Given the description of an element on the screen output the (x, y) to click on. 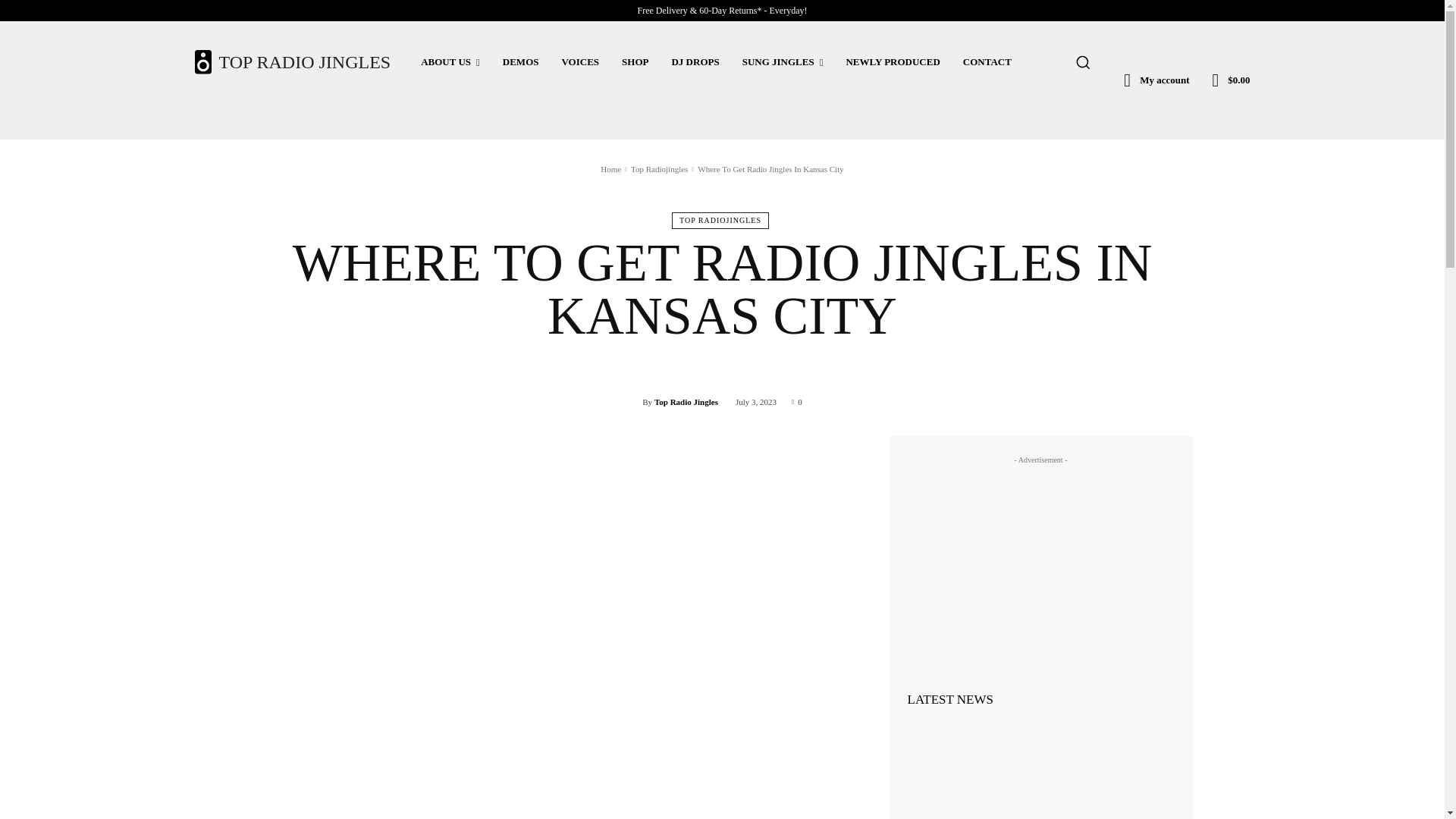
ABOUT US (450, 62)
SUNG JINGLES (783, 62)
NEWLY PRODUCED (892, 62)
TOP RADIO JINGLES (291, 61)
DJ DROPS (695, 62)
View all posts in Top Radiojingles (658, 168)
CONTACT (986, 62)
DEMOS (520, 62)
VOICES (579, 62)
SHOP (634, 62)
